Given the description of an element on the screen output the (x, y) to click on. 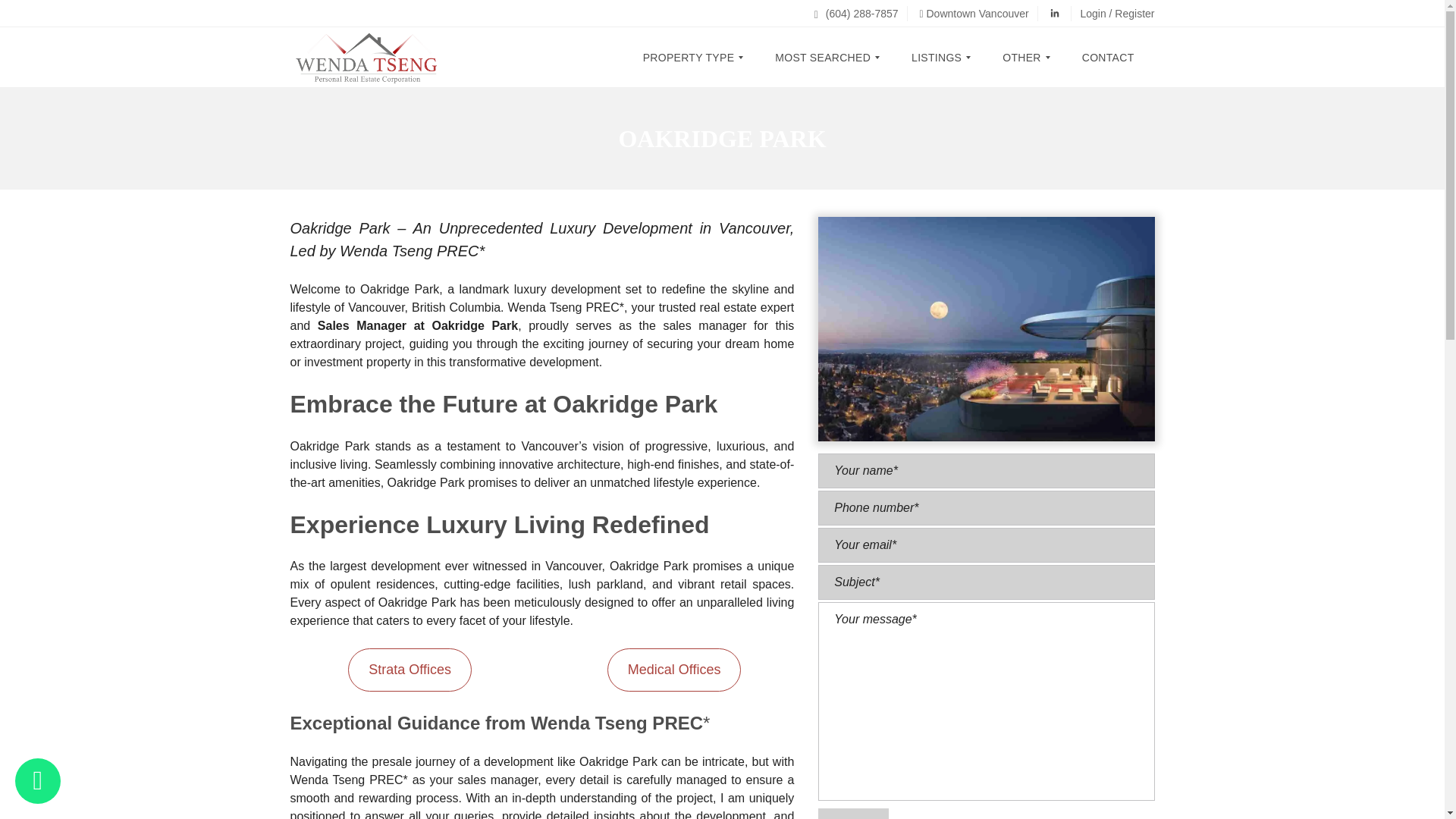
Medical Offices (674, 669)
Strata Offices (409, 669)
PROPERTY TYPE (695, 57)
Send (853, 813)
LISTINGS (936, 57)
OTHER (1022, 57)
MOST SEARCHED (822, 57)
CONTACT (1107, 57)
Send (853, 813)
